Given the description of an element on the screen output the (x, y) to click on. 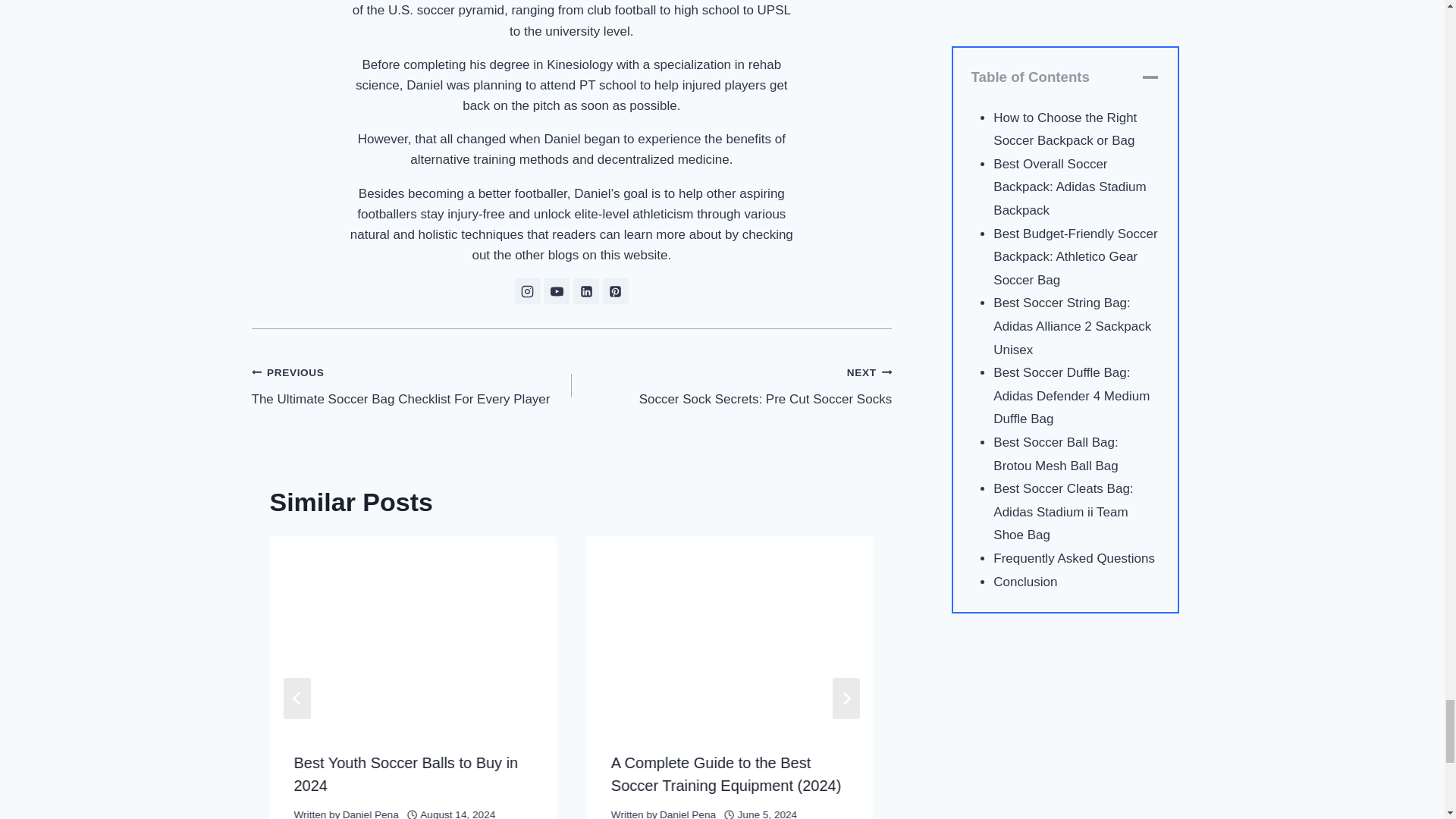
Follow Daniel Pena on Linkedin (585, 290)
Follow Daniel Pena on Instagram (527, 290)
Follow Daniel Pena on Youtube (556, 290)
Follow Daniel Pena on Pinterest (615, 290)
